Given the description of an element on the screen output the (x, y) to click on. 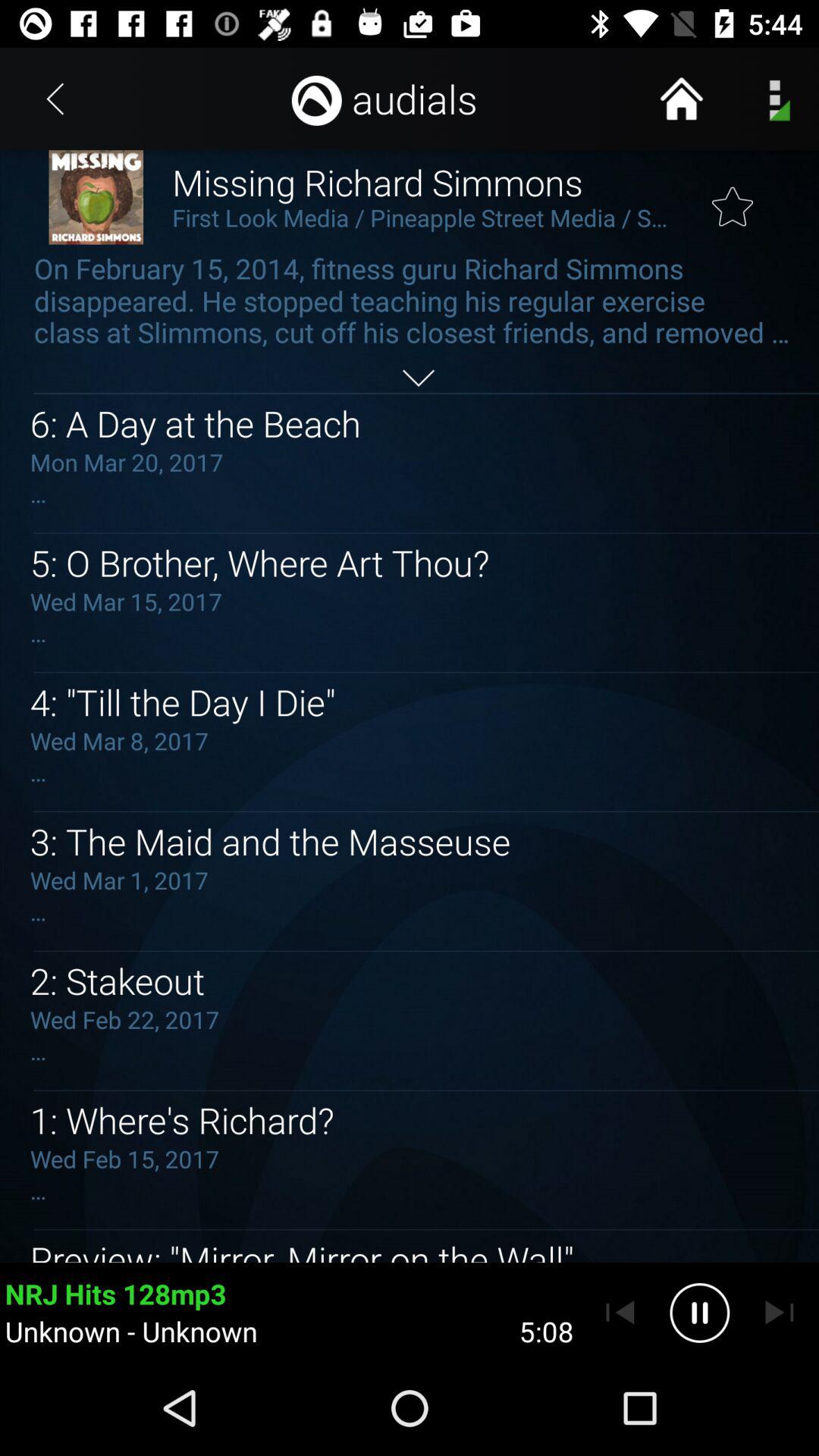
previous track (619, 1312)
